Given the description of an element on the screen output the (x, y) to click on. 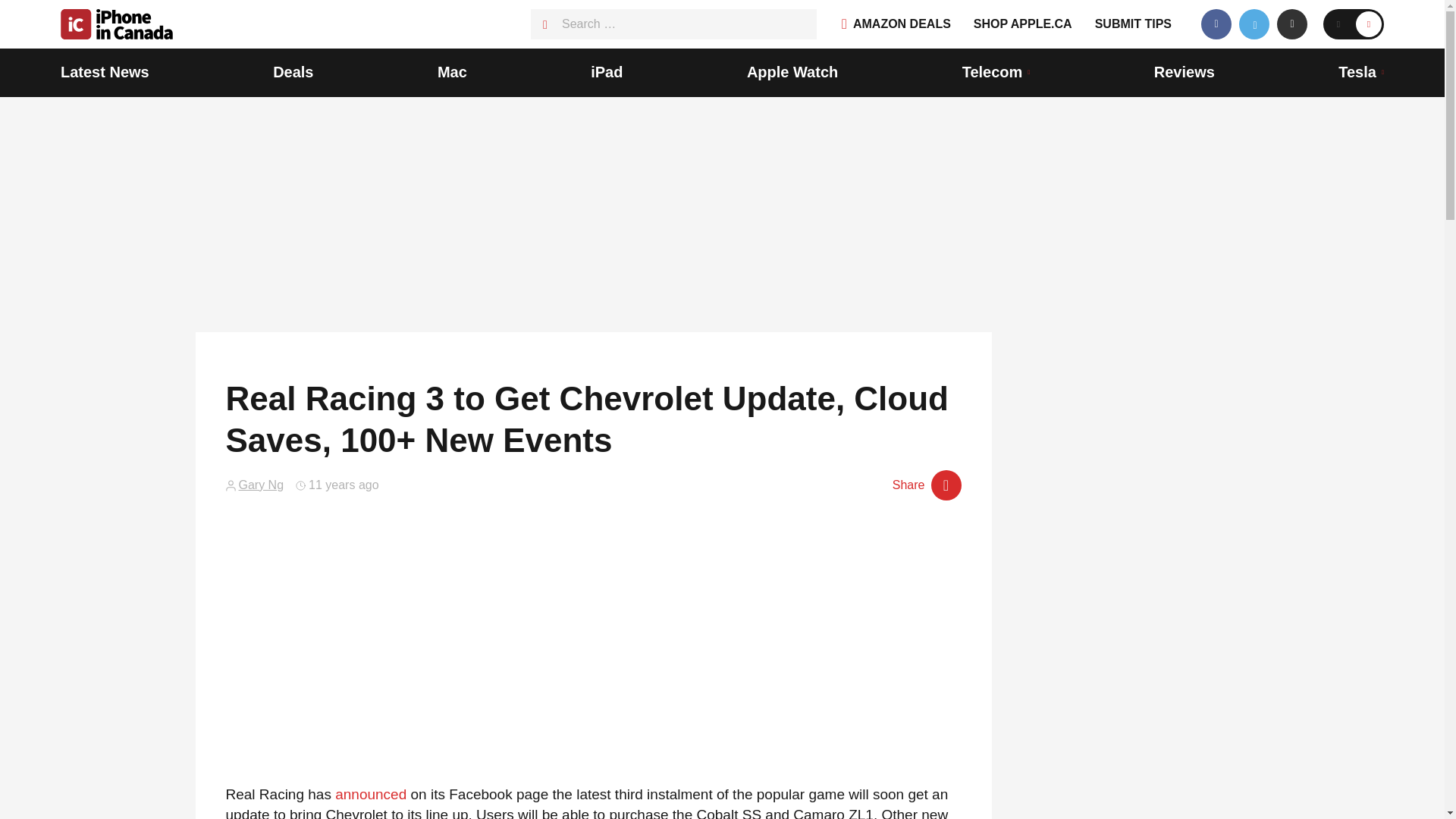
Search for: (673, 24)
Share (926, 485)
AMAZON DEALS (895, 23)
SUBMIT TIPS (1133, 23)
Gary Ng (260, 484)
Reviews (1184, 72)
announced (370, 794)
Apple Watch (792, 72)
Latest News (105, 72)
SHOP APPLE.CA (1022, 23)
